Given the description of an element on the screen output the (x, y) to click on. 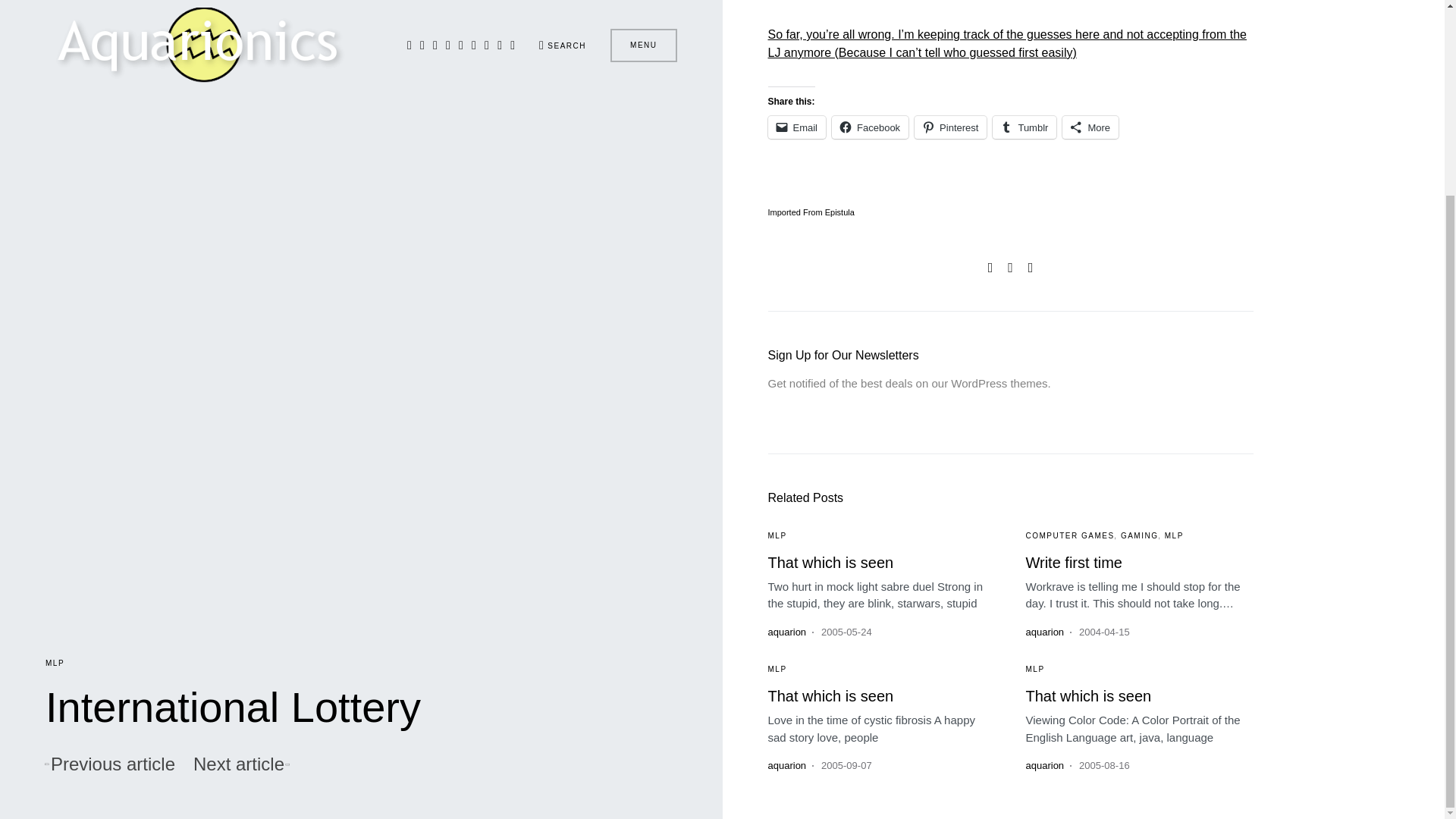
Previous article (109, 516)
MLP (54, 415)
Click to share on Facebook (869, 127)
View all posts by aquarion (786, 631)
Click to share on Tumblr (1024, 127)
View all posts by aquarion (1044, 765)
Next article (241, 516)
Click to email a link to a friend (796, 127)
Click to share on Pinterest (950, 127)
View all posts by aquarion (786, 765)
View all posts by aquarion (1044, 631)
